Given the description of an element on the screen output the (x, y) to click on. 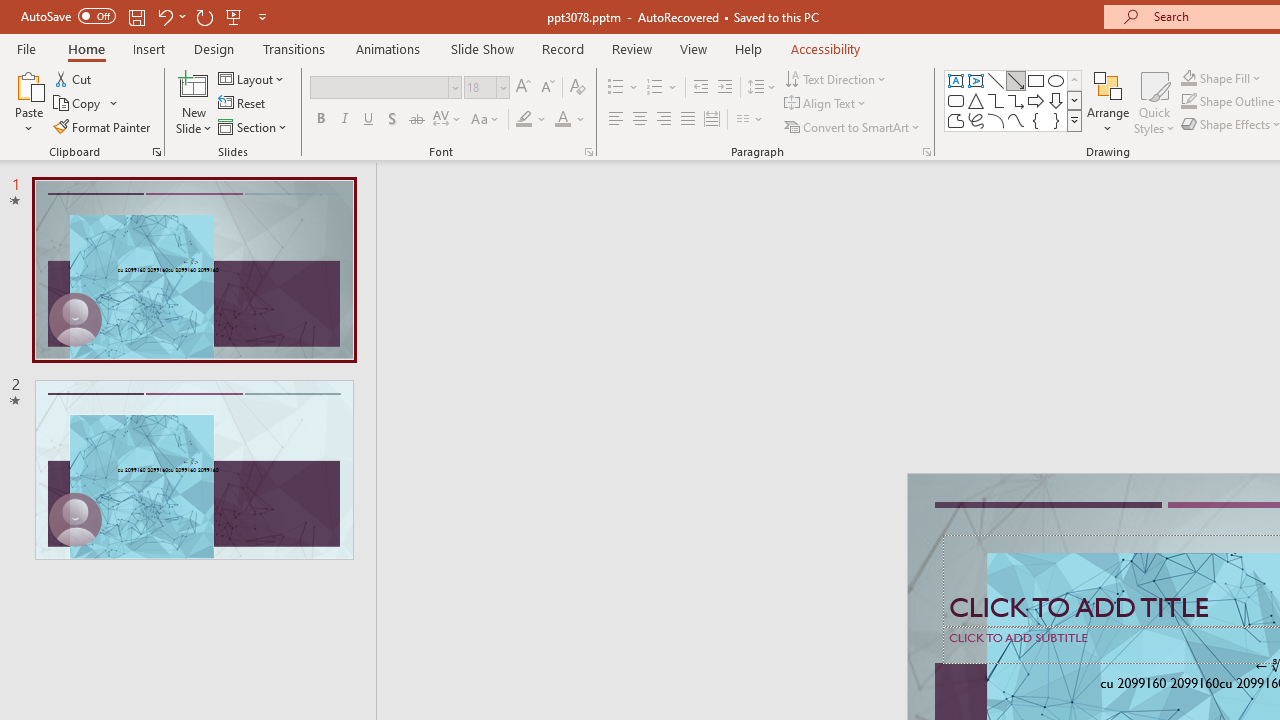
Shape Fill Dark Green, Accent 2 (1188, 78)
